Given the description of an element on the screen output the (x, y) to click on. 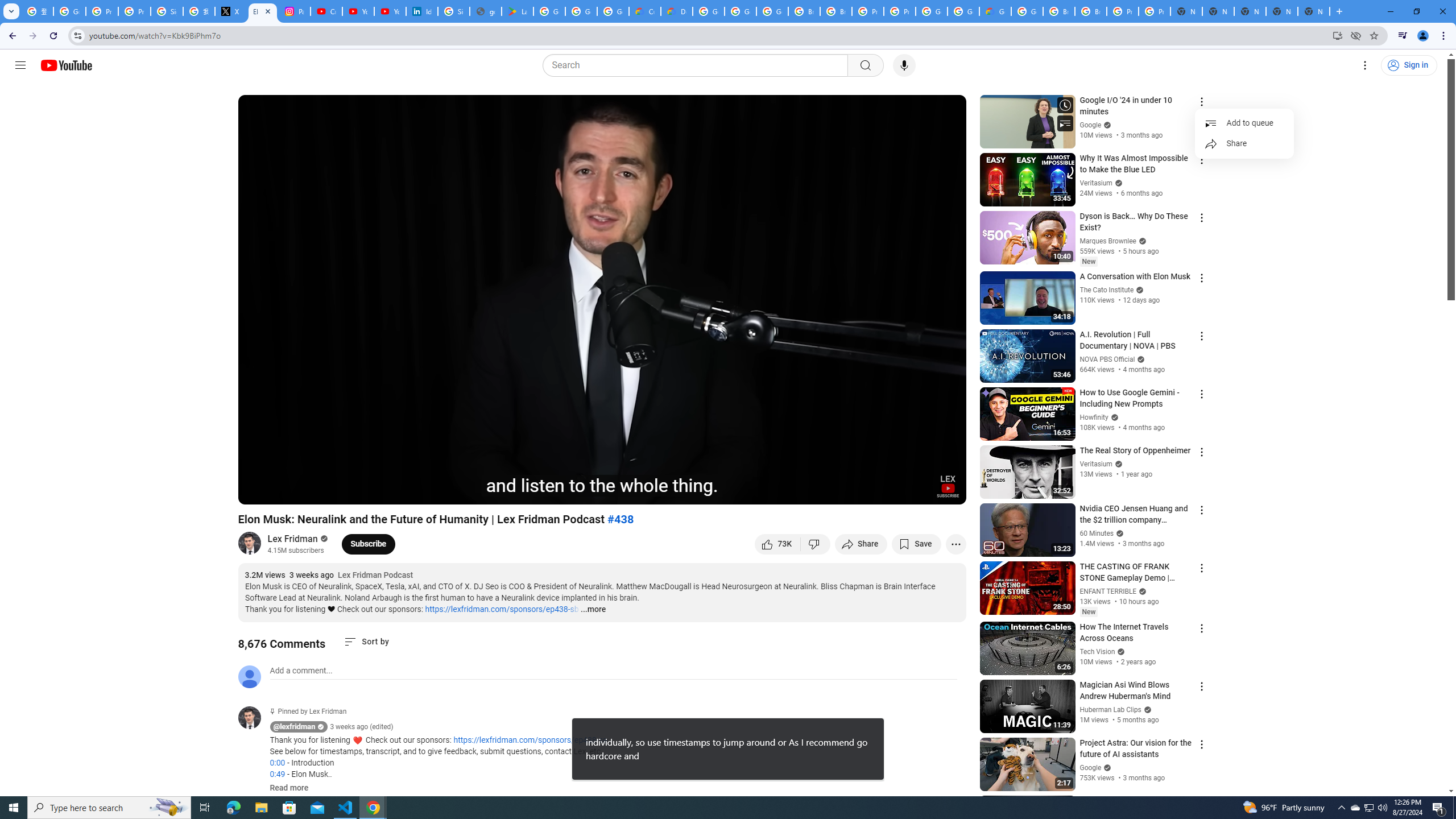
YouTube Culture & Trends - YouTube Top 10, 2021 (389, 11)
Sign in - Google Accounts (166, 11)
3 weeks ago (edited) (361, 726)
Read more (288, 787)
Full screen (f) (945, 490)
New (1087, 611)
X (230, 11)
Mute (m) (312, 490)
Share (1243, 143)
Introduction (406, 490)
